Given the description of an element on the screen output the (x, y) to click on. 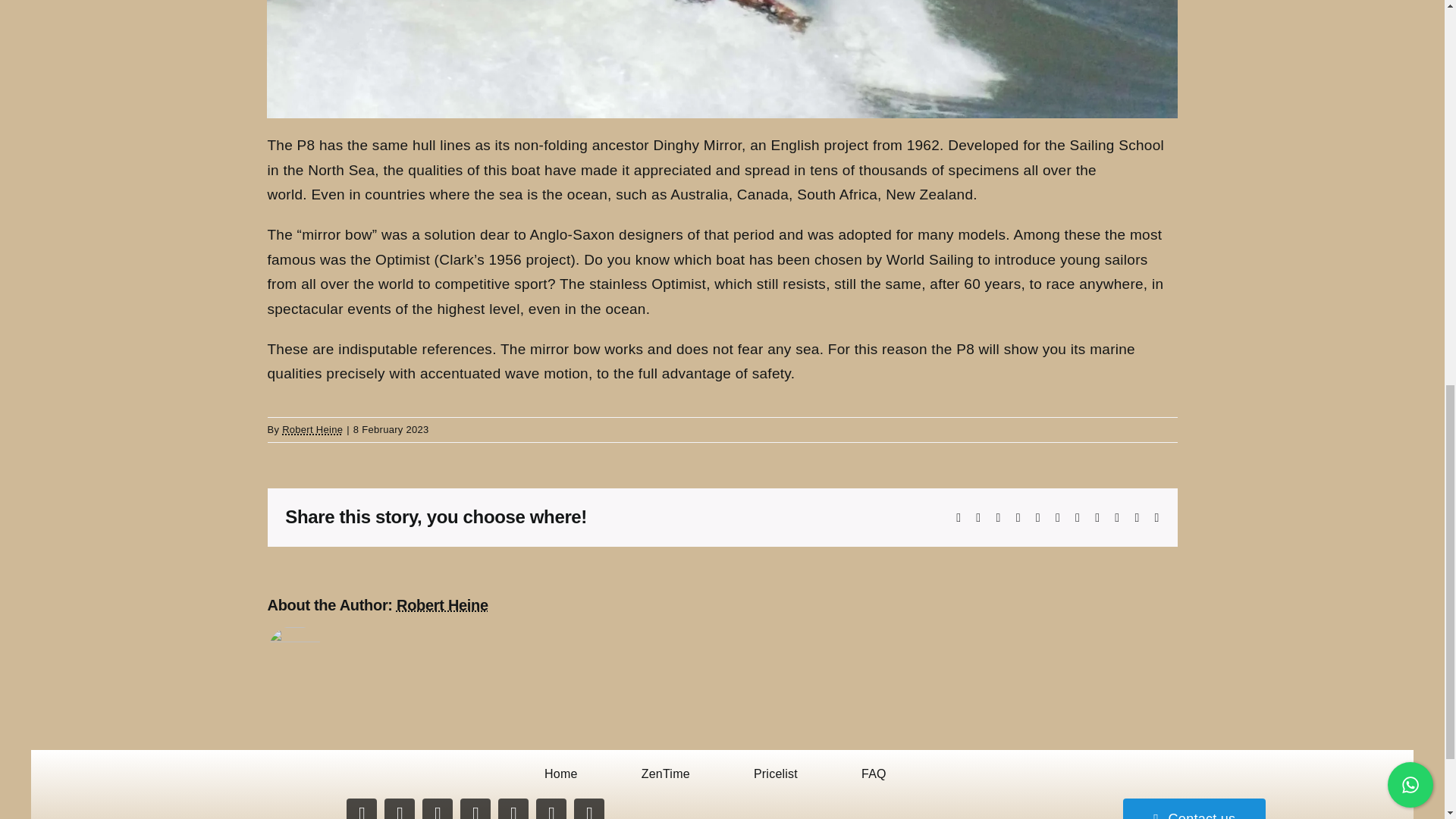
Robert Heine (312, 429)
Posts by Robert Heine (441, 605)
Posts by Robert Heine (312, 429)
